Given the description of an element on the screen output the (x, y) to click on. 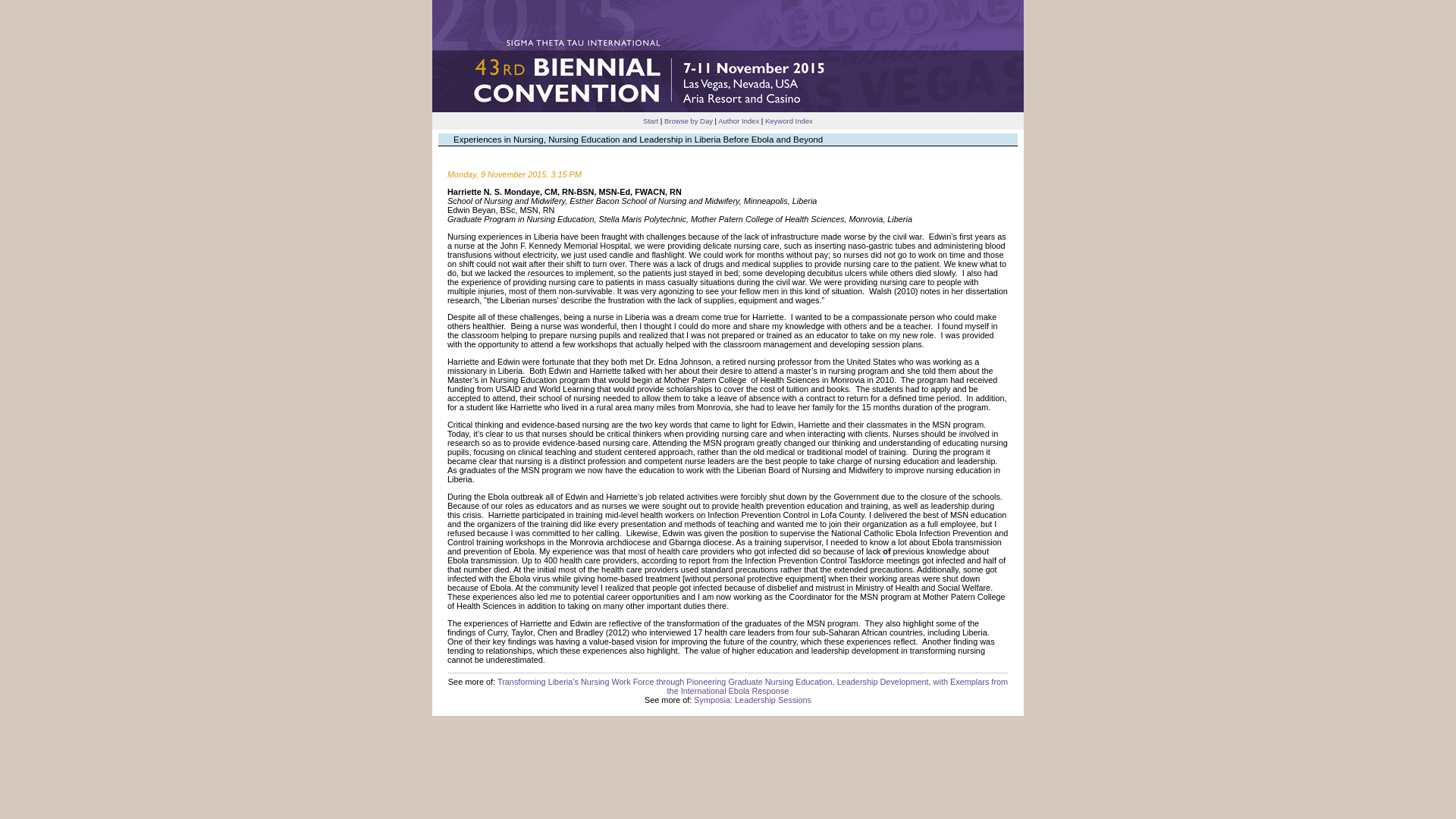
Keyword Index (788, 121)
Browse by Day (688, 121)
Author Index (737, 121)
Start (650, 121)
Symposia: Leadership Sessions (752, 699)
